Given the description of an element on the screen output the (x, y) to click on. 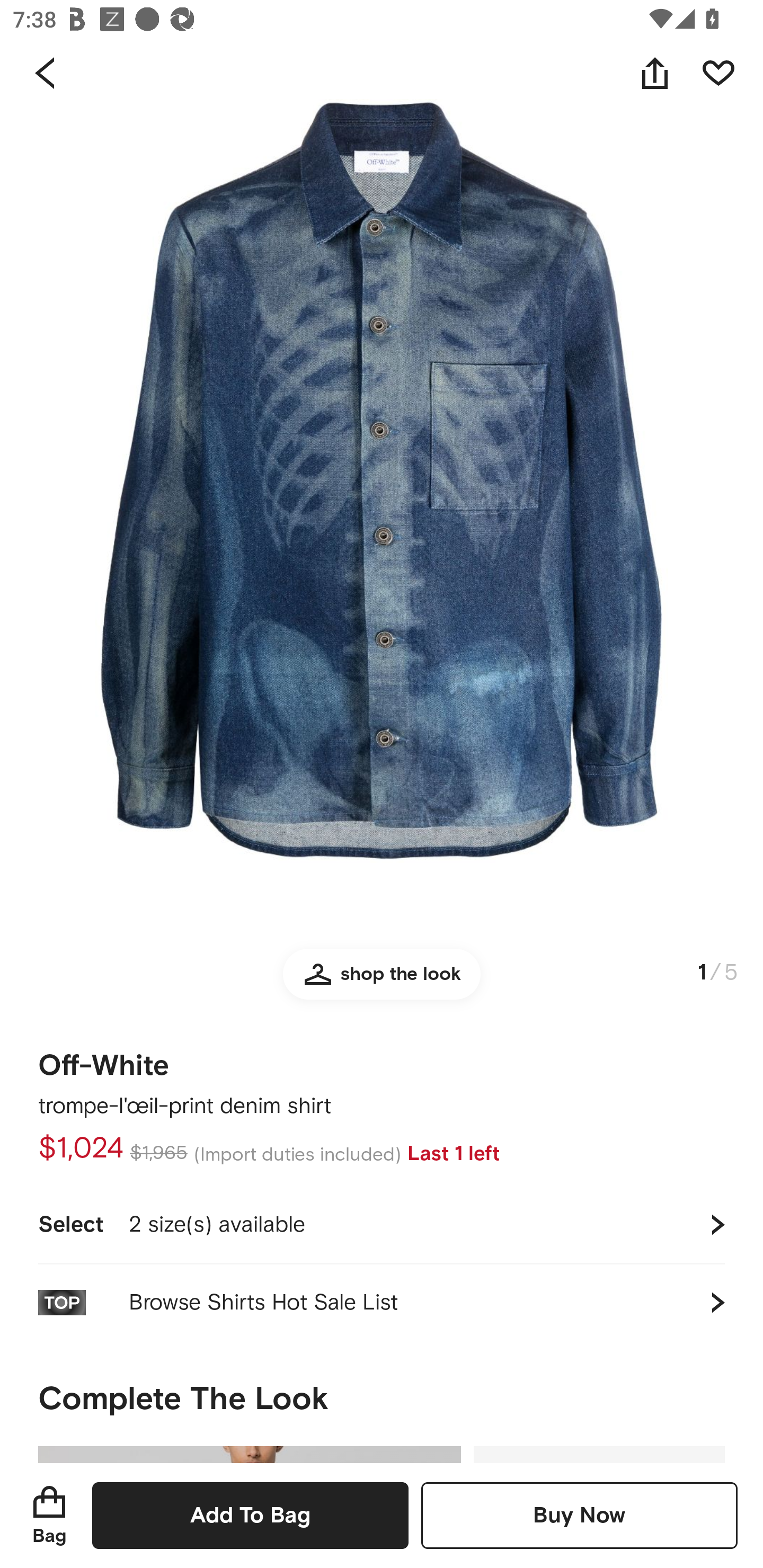
shop the look (381, 982)
Off-White (103, 1059)
Select 2 size(s) available (381, 1224)
Browse Shirts Hot Sale List (381, 1301)
Bag (49, 1515)
Add To Bag (250, 1515)
Buy Now (579, 1515)
